Given the description of an element on the screen output the (x, y) to click on. 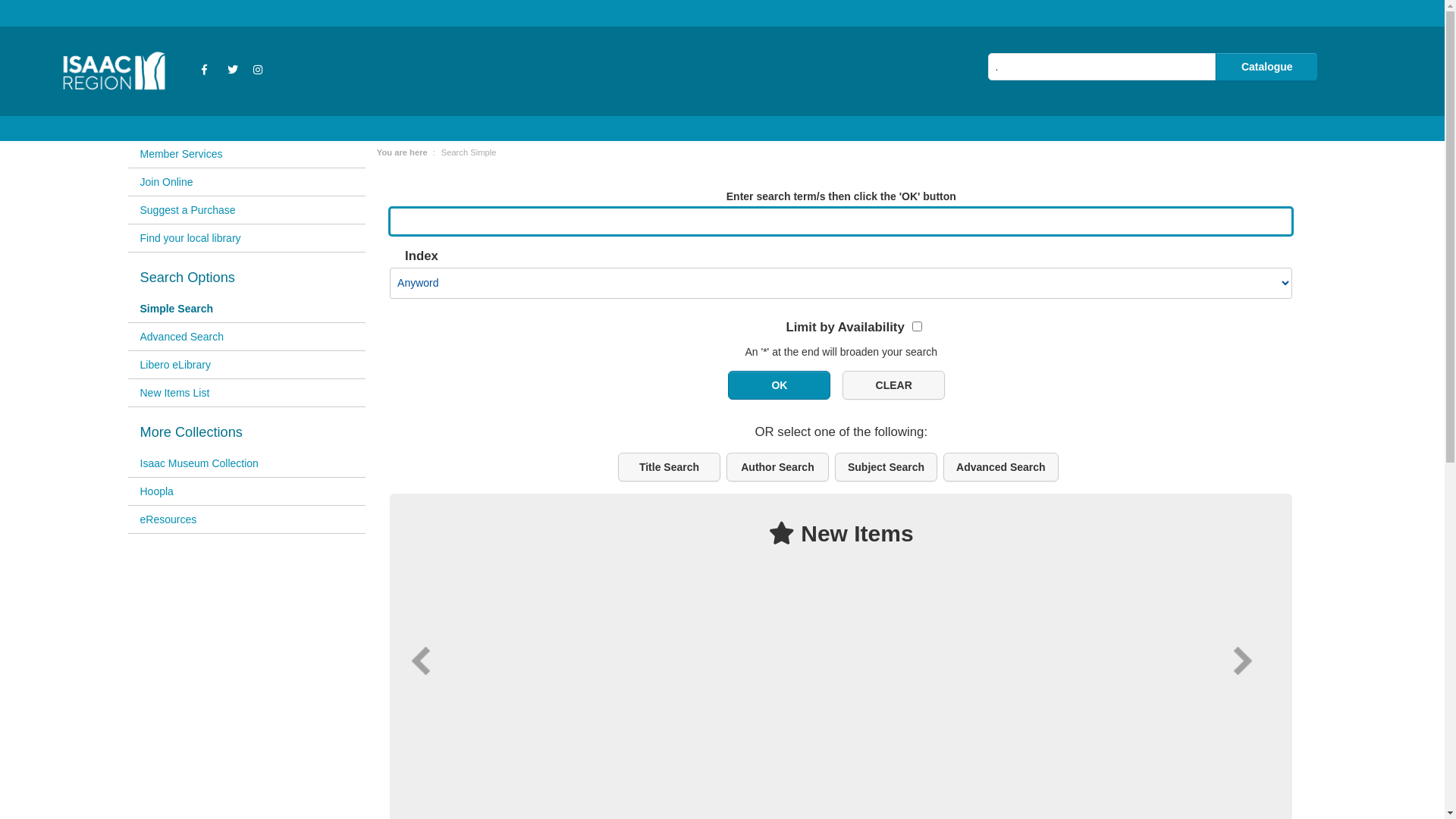
eResources Element type: text (246, 519)
Advanced Search Element type: text (246, 337)
Member Services Element type: text (246, 154)
OK Element type: text (779, 384)
Suggest a Purchase Element type: text (246, 210)
Alt-2 Element type: hover (893, 384)
Alt-1 Element type: hover (779, 384)
Simple Search Element type: text (246, 308)
Hoopla Element type: text (246, 491)
Find your local library Element type: text (246, 238)
Libero eLibrary Element type: text (246, 365)
Join Online Element type: text (246, 182)
Catalogue Element type: text (1266, 66)
Isaac Library Arts and Culture Element type: hover (117, 33)
Isaac Museum Collection Element type: text (246, 463)
New Items List Element type: text (246, 393)
